Given the description of an element on the screen output the (x, y) to click on. 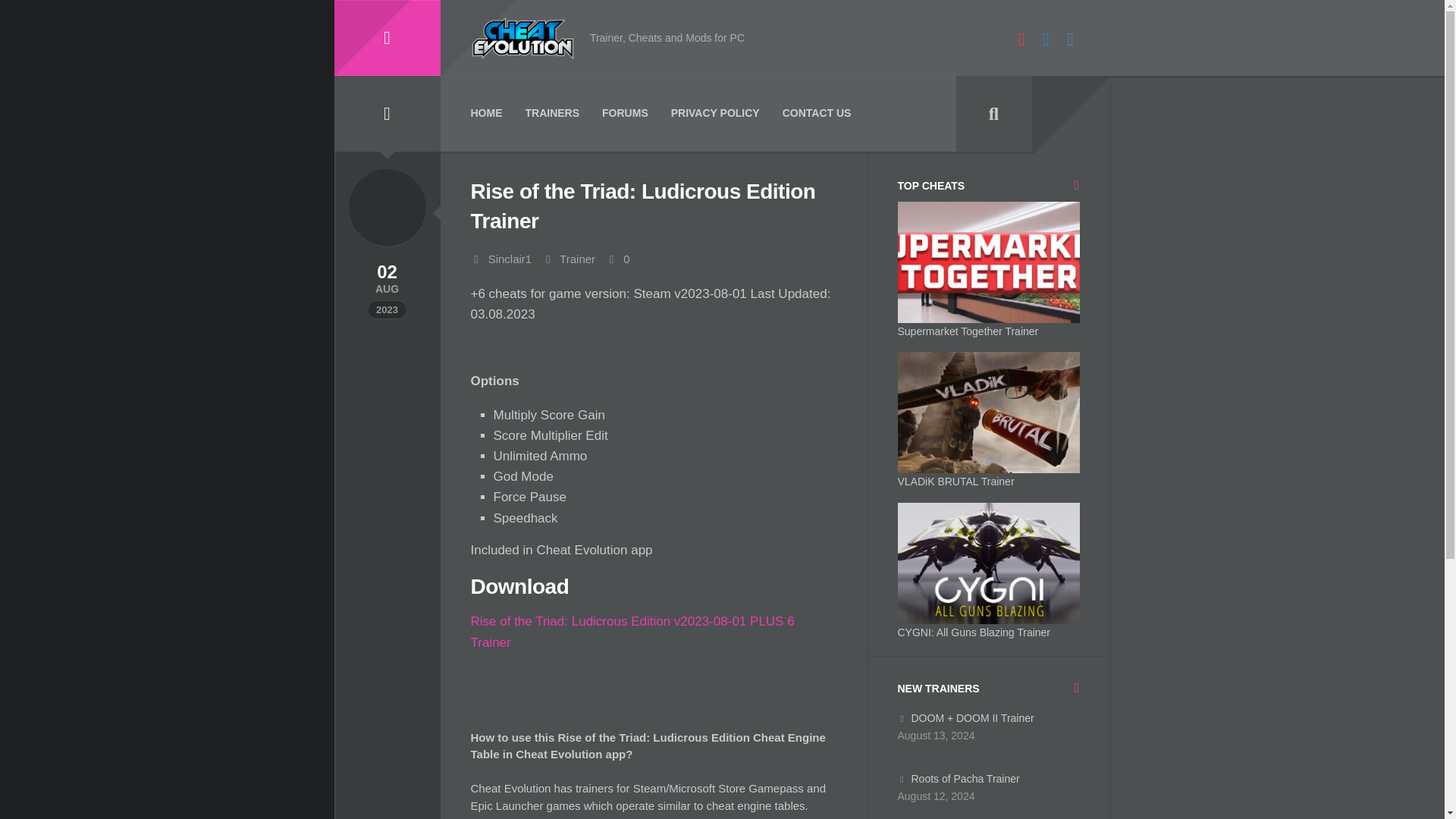
Facebook (1070, 39)
Sinclair1 (509, 258)
TRAINERS (551, 115)
Roots of Pacha Trainer (959, 777)
Trainer (577, 258)
YouTube (1021, 39)
Posts by Sinclair1 (509, 258)
PRIVACY POLICY (715, 115)
VLADiK BRUTAL Trainer (956, 481)
